Given the description of an element on the screen output the (x, y) to click on. 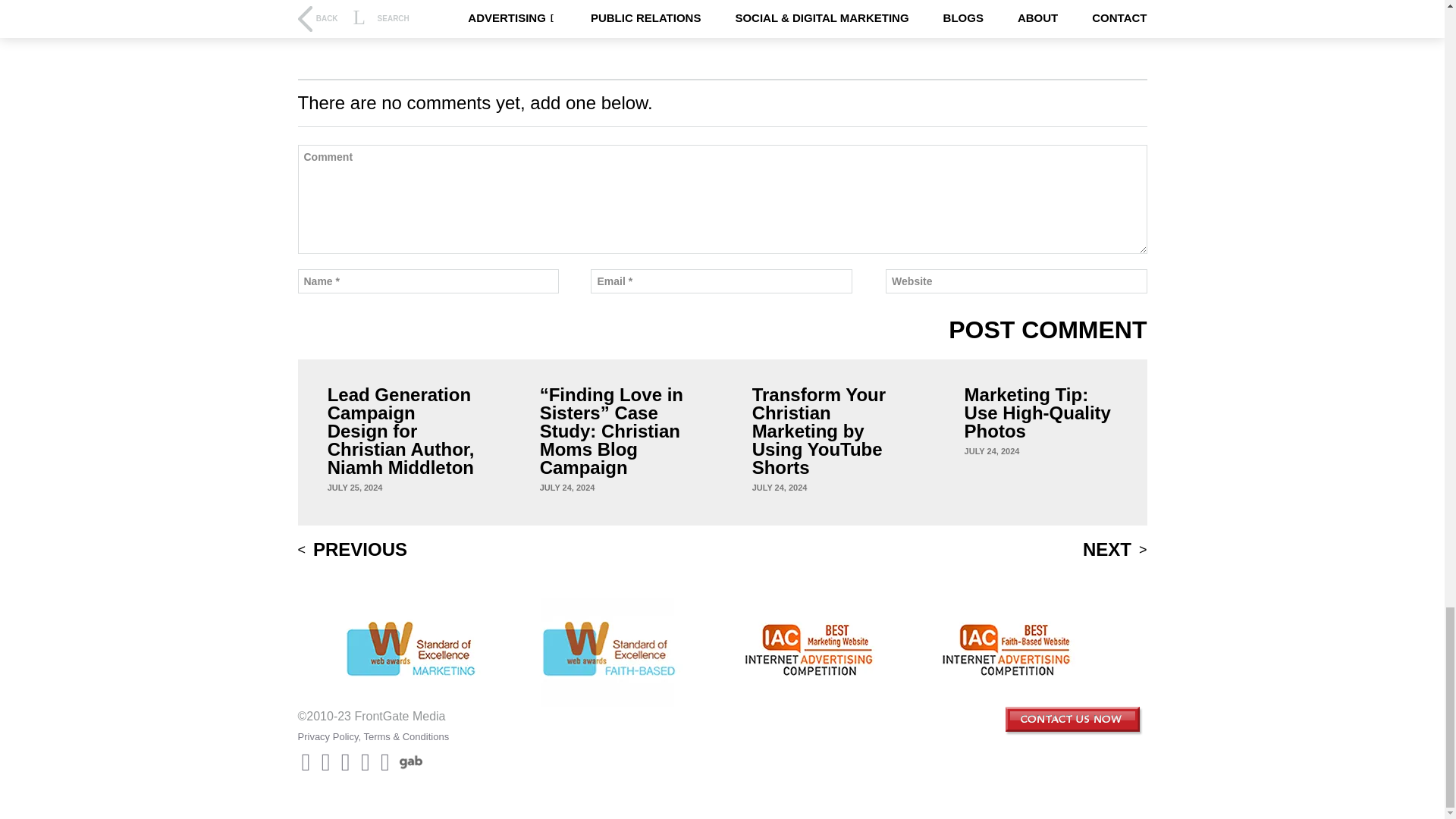
NEXT (1115, 549)
Marketing Tip: Use High-Quality Photos (1040, 412)
JULY 24, 2024 (780, 487)
Permalink to Marketing Tip: Use High-Quality Photos (991, 450)
JULY 25, 2024 (354, 487)
PREVIOUS (352, 549)
Post Comment (1048, 329)
Post Comment (1048, 329)
Transform Your Christian Marketing by Using YouTube Shorts (828, 430)
JULY 24, 2024 (991, 450)
JULY 24, 2024 (567, 487)
